Given the description of an element on the screen output the (x, y) to click on. 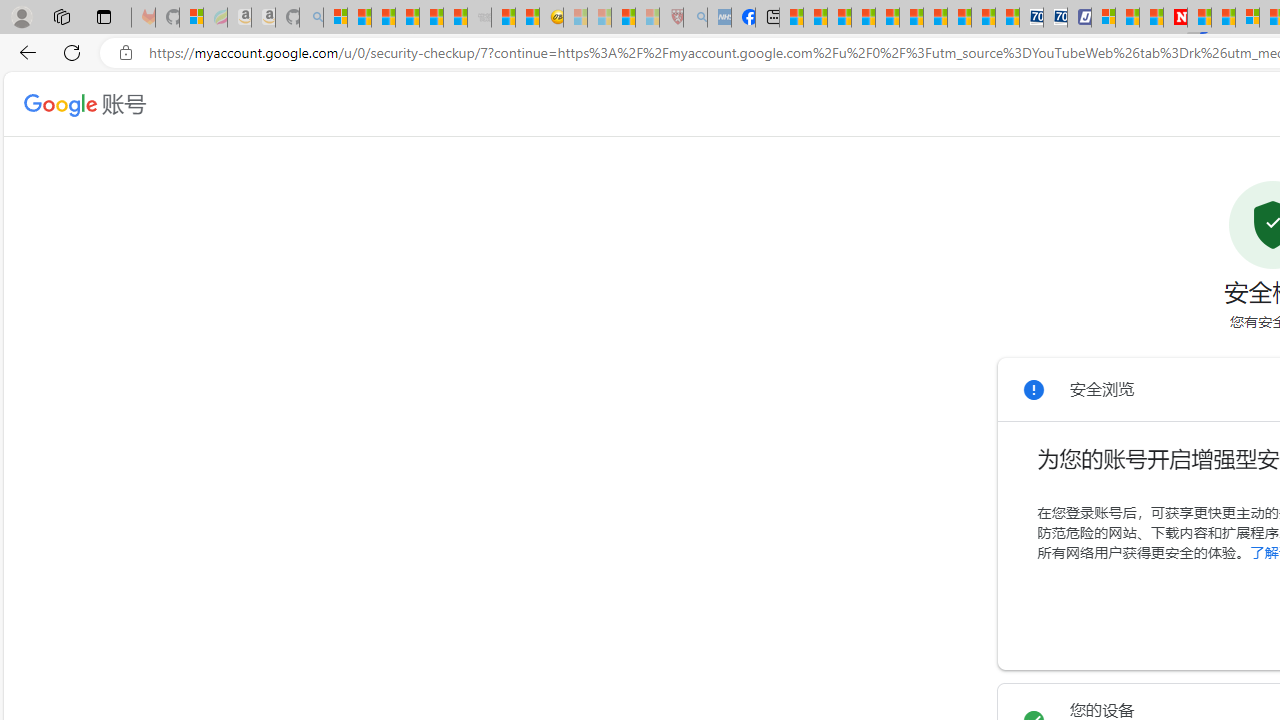
New Report Confirms 2023 Was Record Hot | Watch (430, 17)
Newsweek - News, Analysis, Politics, Business, Technology (1174, 17)
Climate Damage Becomes Too Severe To Reverse (863, 17)
